Given the description of an element on the screen output the (x, y) to click on. 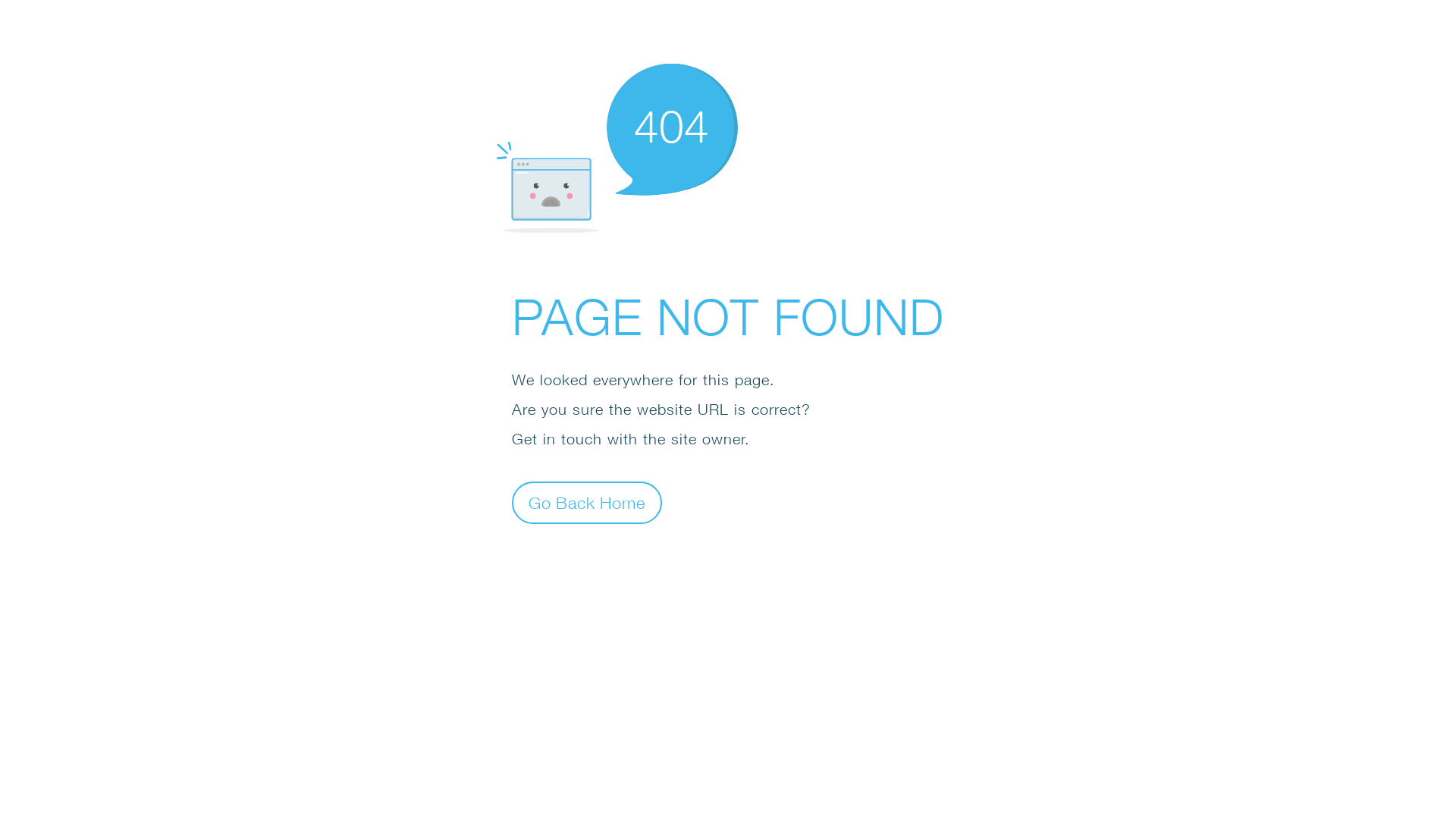
Go Back Home Element type: text (586, 502)
